Given the description of an element on the screen output the (x, y) to click on. 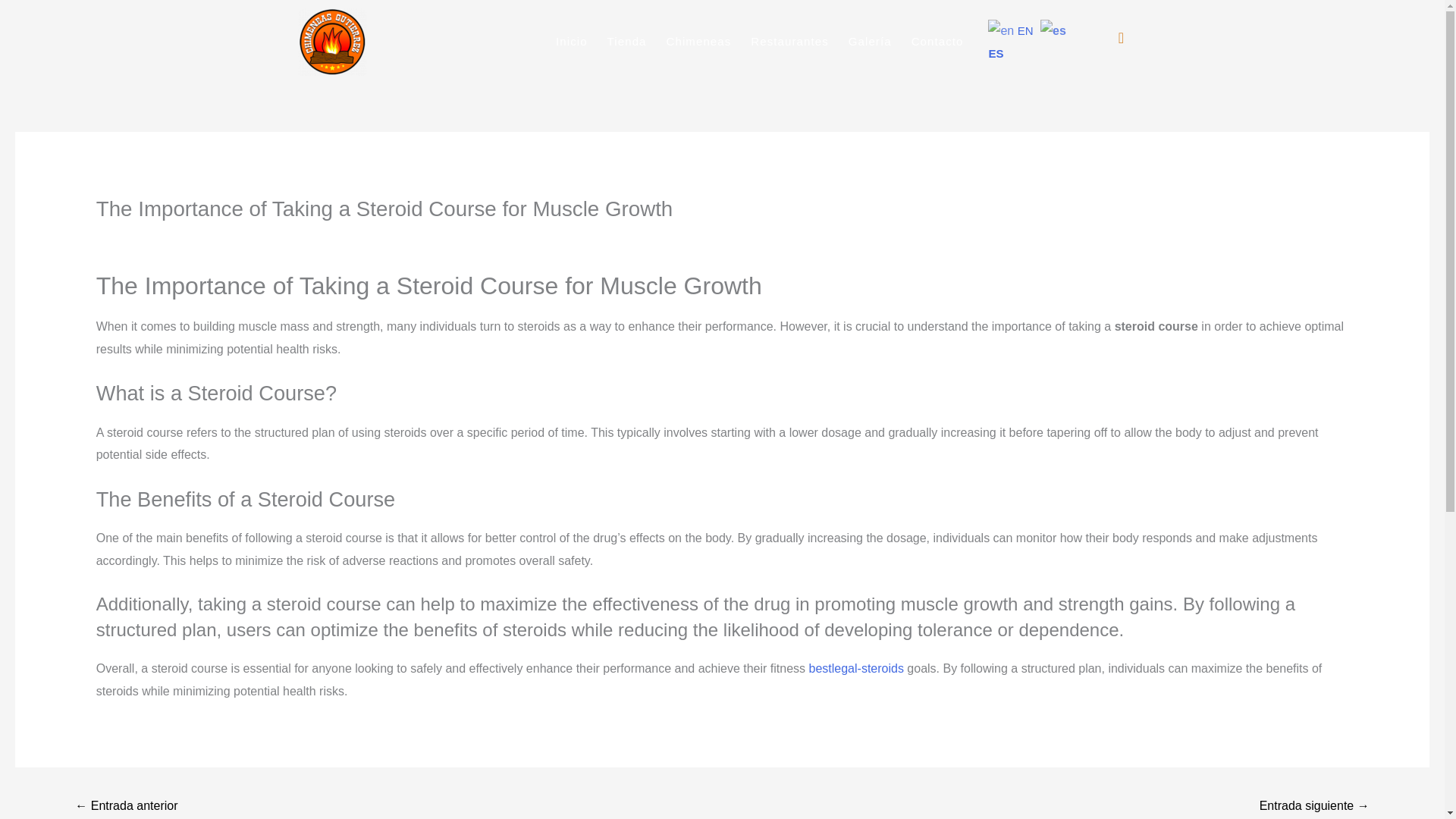
Inicio (571, 41)
Spanish (1026, 41)
Restaurantes (789, 41)
Steroids in Bodybuilding: The Good, The Bad, and The Ugly (125, 806)
cropped-logo-150x.png (331, 41)
Chimeneas (698, 41)
Ver todas las entradas de chimeneas (235, 237)
Contacto (937, 41)
bestlegal-steroids (855, 667)
English (1012, 29)
ES (1026, 41)
Tienda (626, 41)
chimeneas (235, 237)
EN (1012, 29)
